Given the description of an element on the screen output the (x, y) to click on. 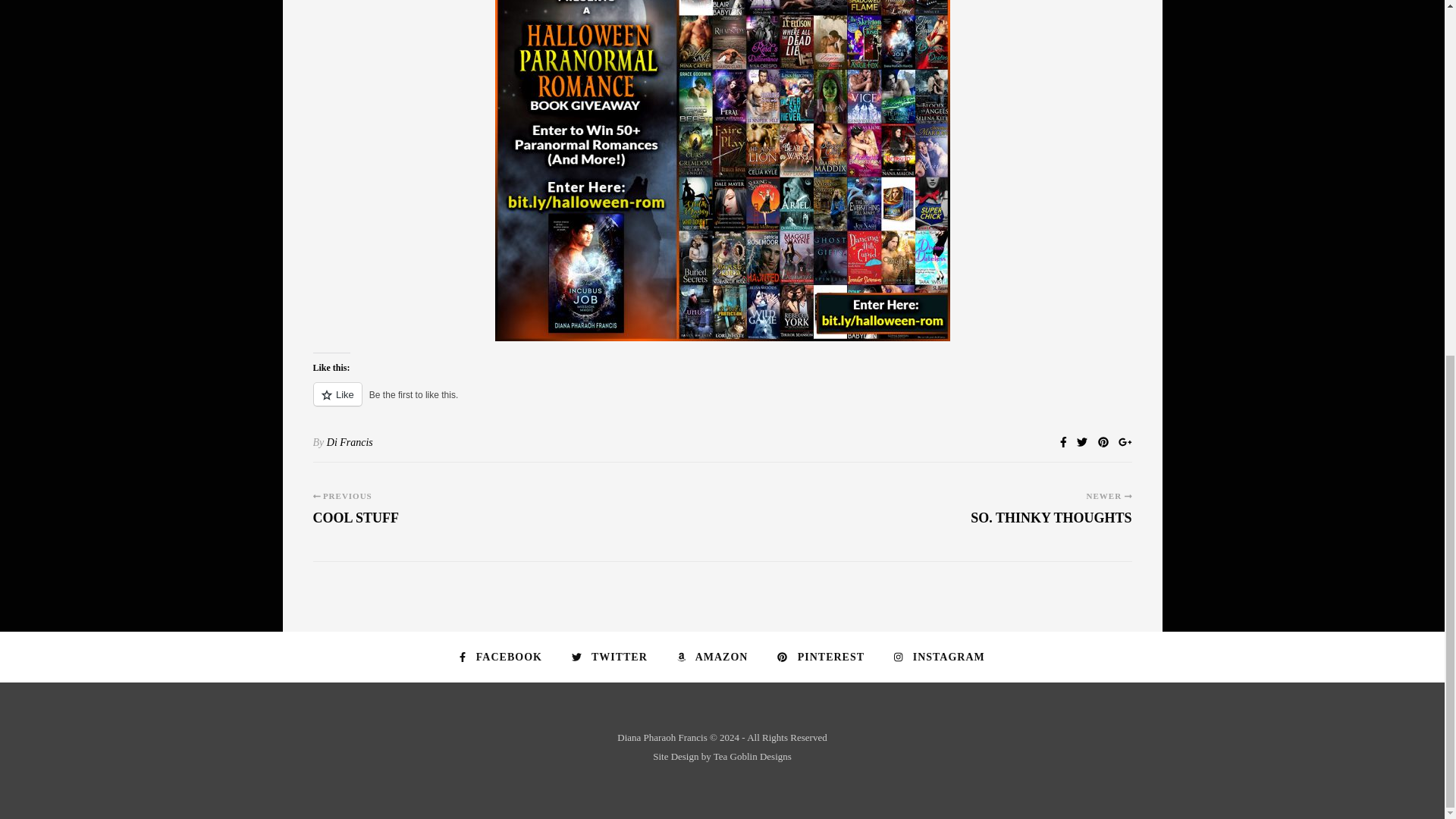
Cool stuff (355, 525)
Posts by Di Francis (349, 441)
Like or Reblog (722, 403)
So. Thinky Thoughts (1051, 525)
